Given the description of an element on the screen output the (x, y) to click on. 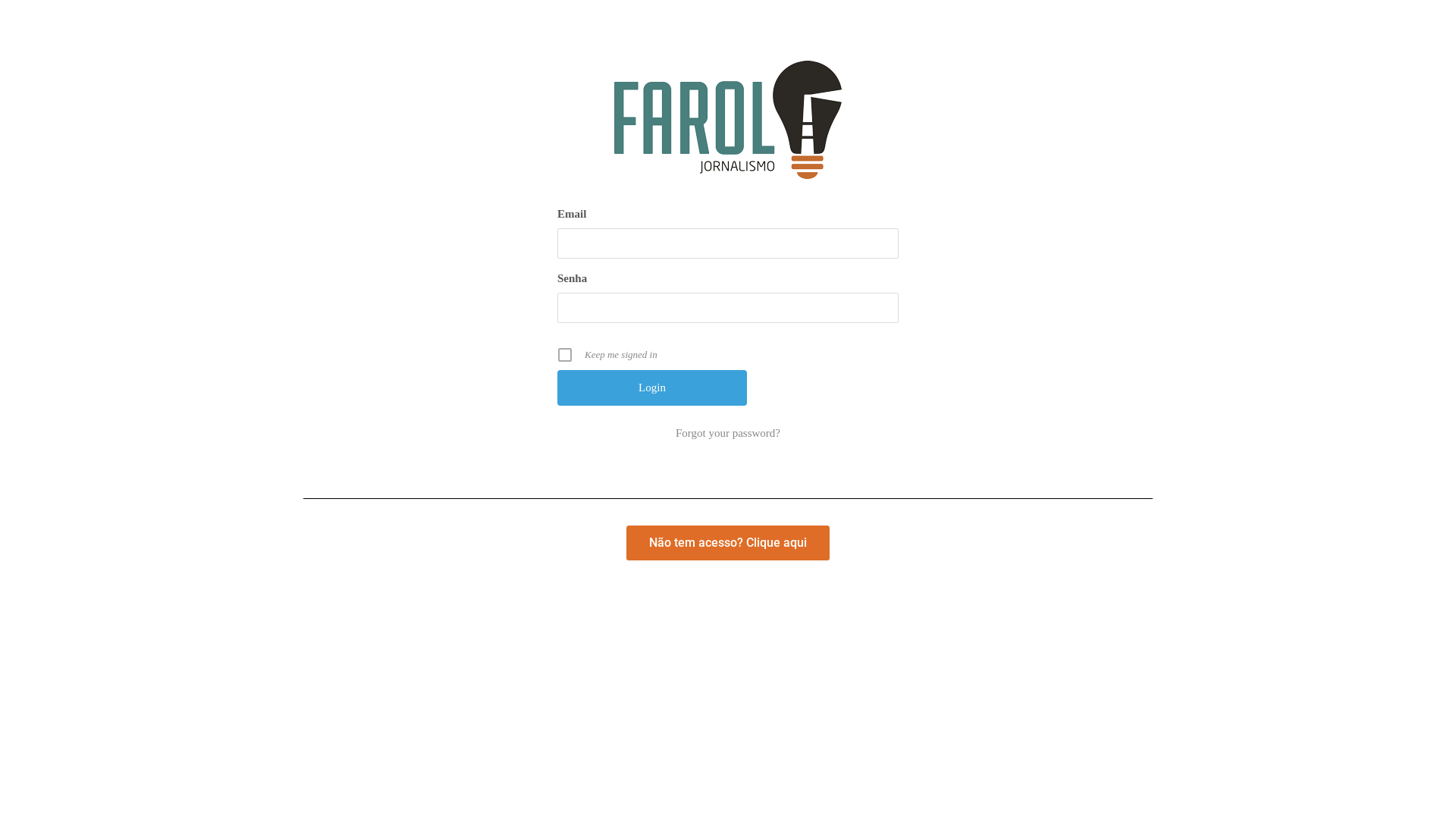
Login Element type: text (651, 387)
Forgot your password? Element type: text (727, 432)
